Given the description of an element on the screen output the (x, y) to click on. 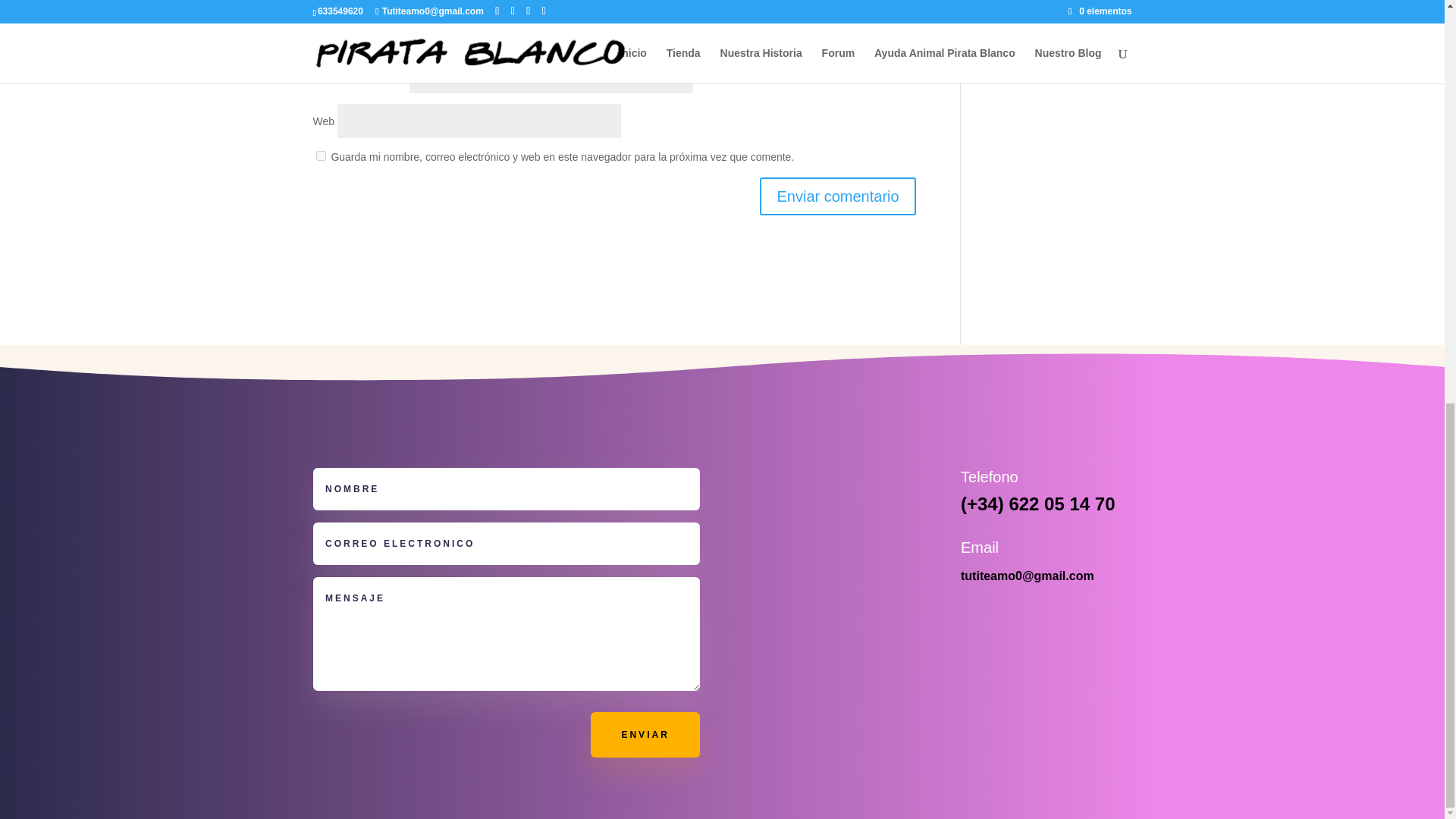
ENVIAR (644, 734)
Enviar comentario (837, 196)
Enviar comentario (837, 196)
yes (319, 155)
